Given the description of an element on the screen output the (x, y) to click on. 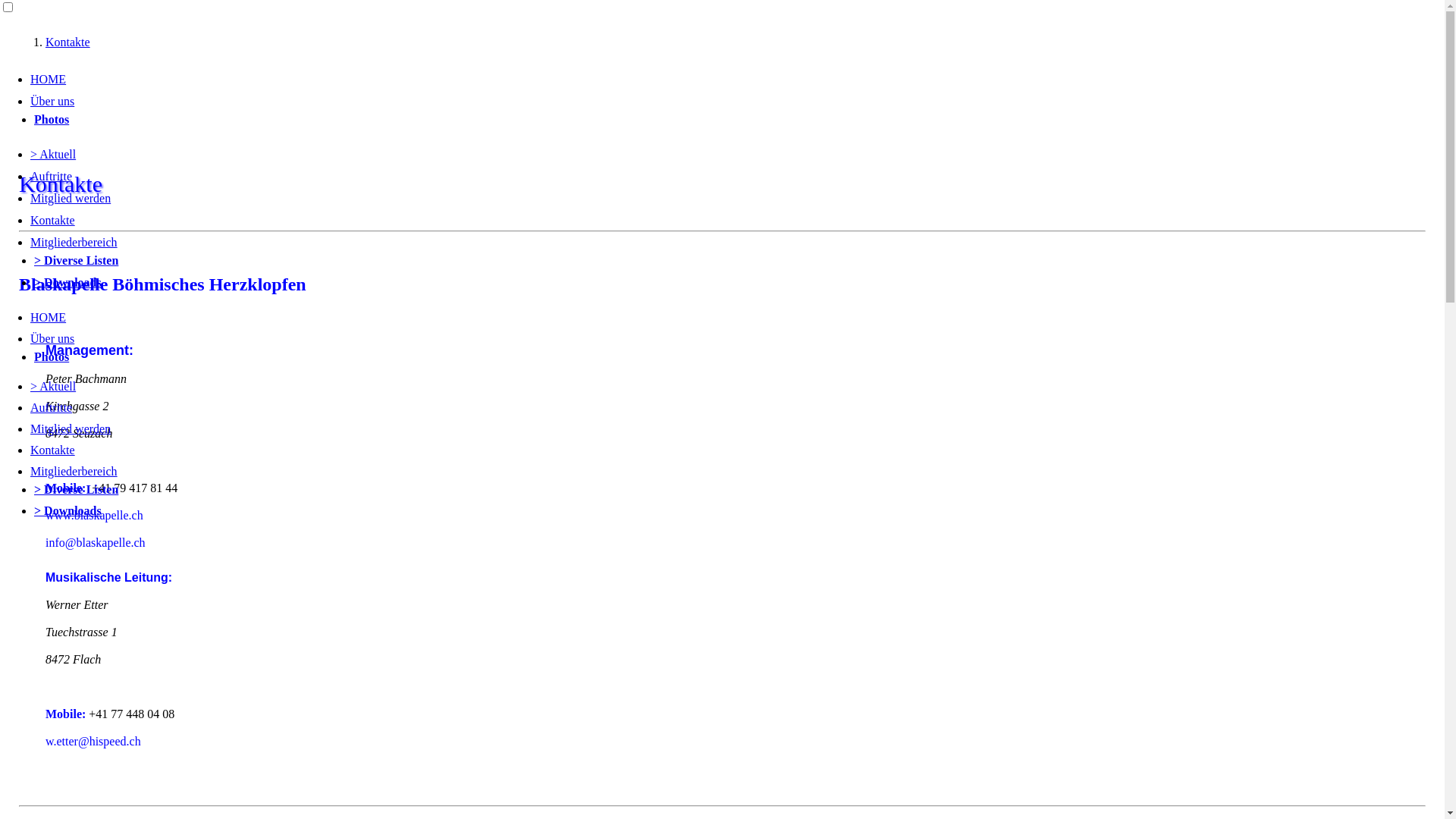
> Diverse Listen Element type: text (76, 260)
> Aktuell Element type: text (52, 153)
Mitglied werden Element type: text (70, 428)
Auftritte Element type: text (51, 407)
Kontakte Element type: text (52, 449)
Photos Element type: text (51, 356)
HOME Element type: text (47, 316)
Kontakte Element type: text (67, 41)
> Downloads Element type: text (67, 510)
Mitgliederbereich Element type: text (73, 241)
HOME Element type: text (47, 78)
> Aktuell Element type: text (52, 385)
Kontakte Element type: text (52, 219)
> Diverse Listen Element type: text (76, 489)
Mitgliederbereich Element type: text (73, 470)
Mitglied werden Element type: text (70, 197)
Photos Element type: text (51, 118)
> Downloads Element type: text (67, 282)
Auftritte Element type: text (51, 175)
